Given the description of an element on the screen output the (x, y) to click on. 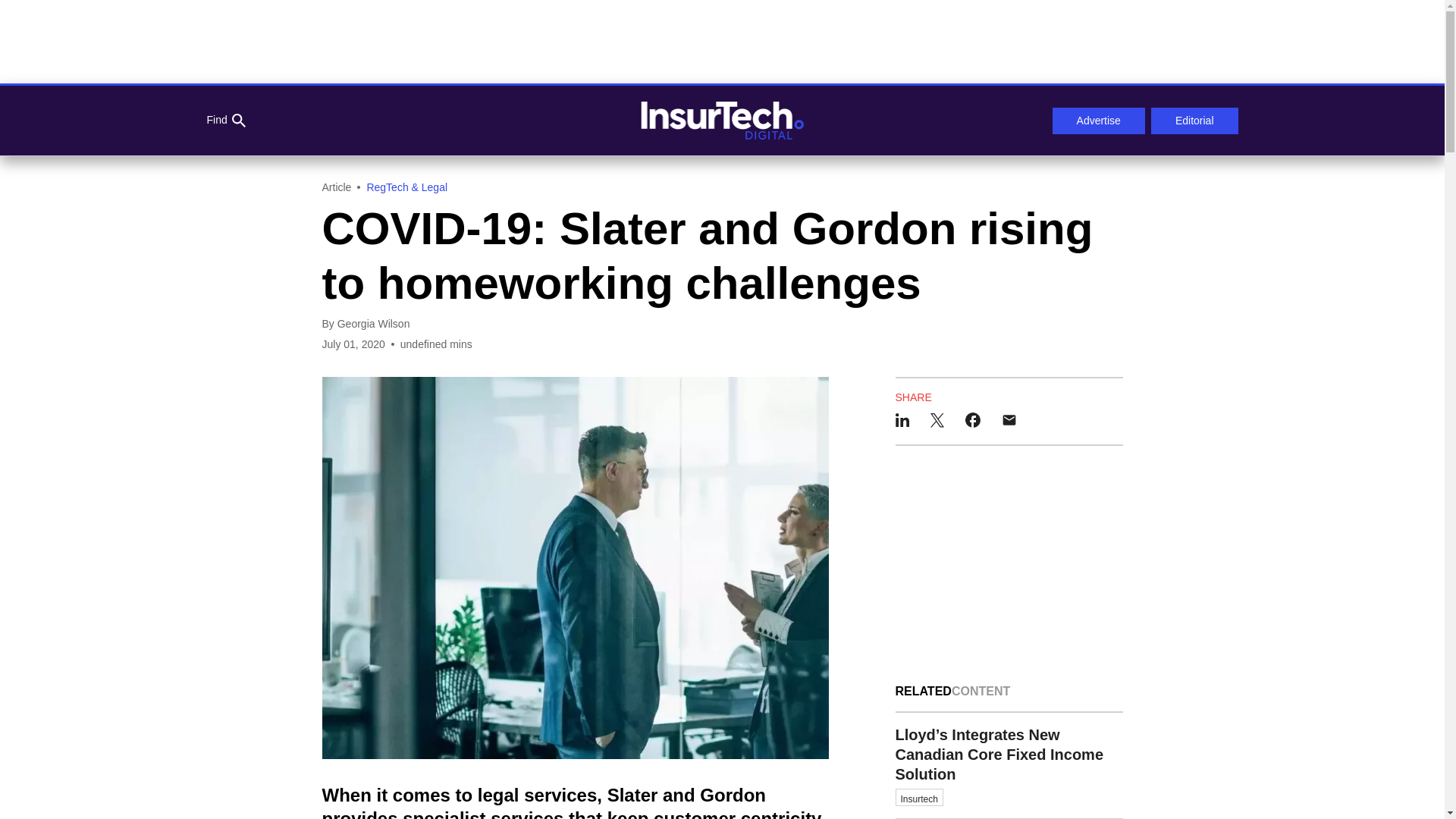
Advertise (1098, 121)
Find (225, 120)
Editorial (1195, 121)
